Given the description of an element on the screen output the (x, y) to click on. 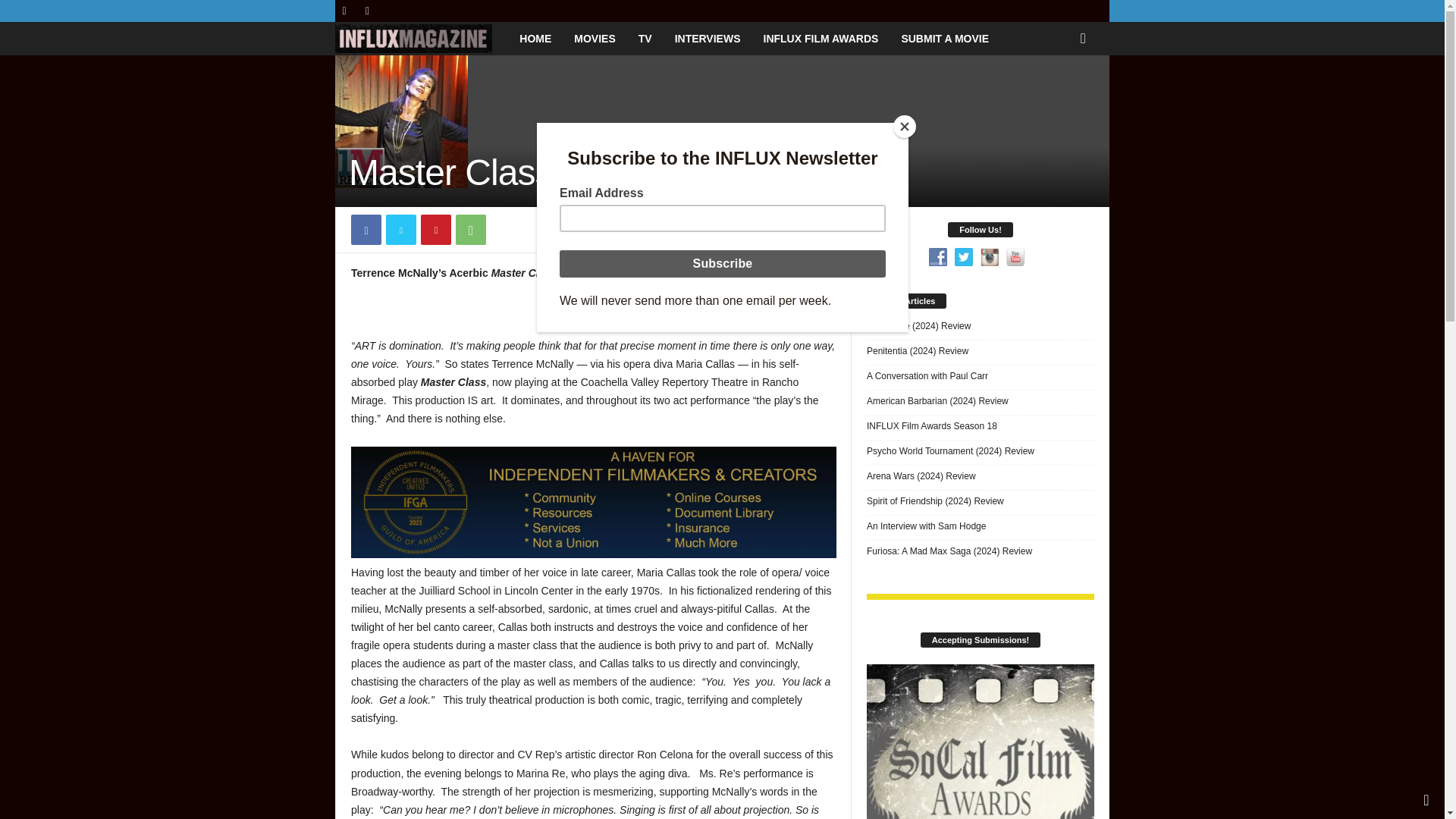
Facebook (343, 11)
WhatsApp (470, 229)
Twitter (400, 229)
Pinterest (435, 229)
MOVIES (594, 38)
INFLUX FILM AWARDS (820, 38)
Master (400, 121)
Facebook (365, 229)
HOME (535, 38)
INTERVIEWS (707, 38)
INFLUX Magazine (421, 38)
Twitter (367, 11)
SUBMIT A MOVIE (944, 38)
